Given the description of an element on the screen output the (x, y) to click on. 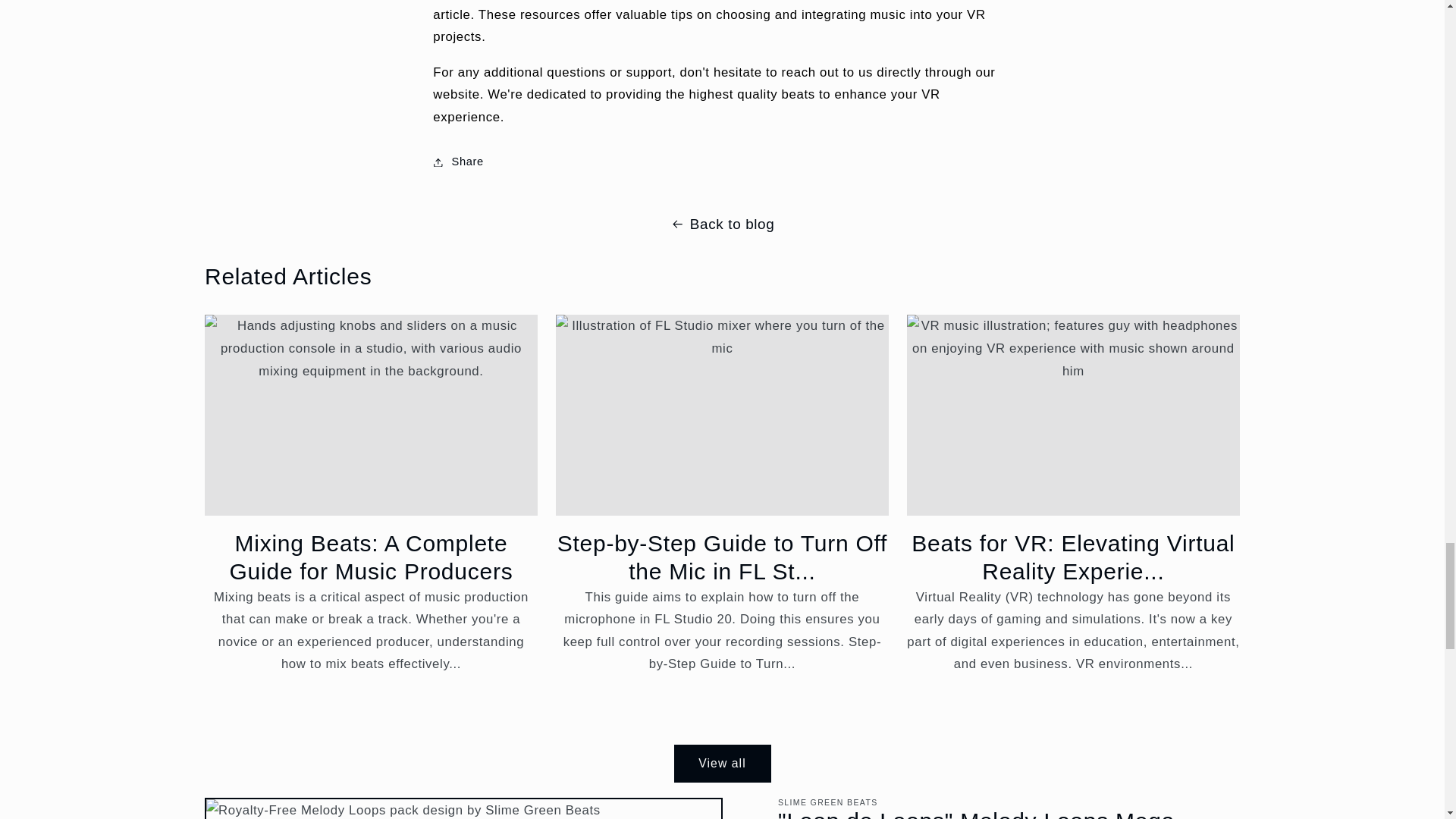
Beats for VR: Elevating Virtual Reality Experie... (1073, 557)
Mixing Beats: A Complete Guide for Music Producers (371, 557)
Step-by-Step Guide to Turn Off the Mic in FL St... (722, 557)
